Given the description of an element on the screen output the (x, y) to click on. 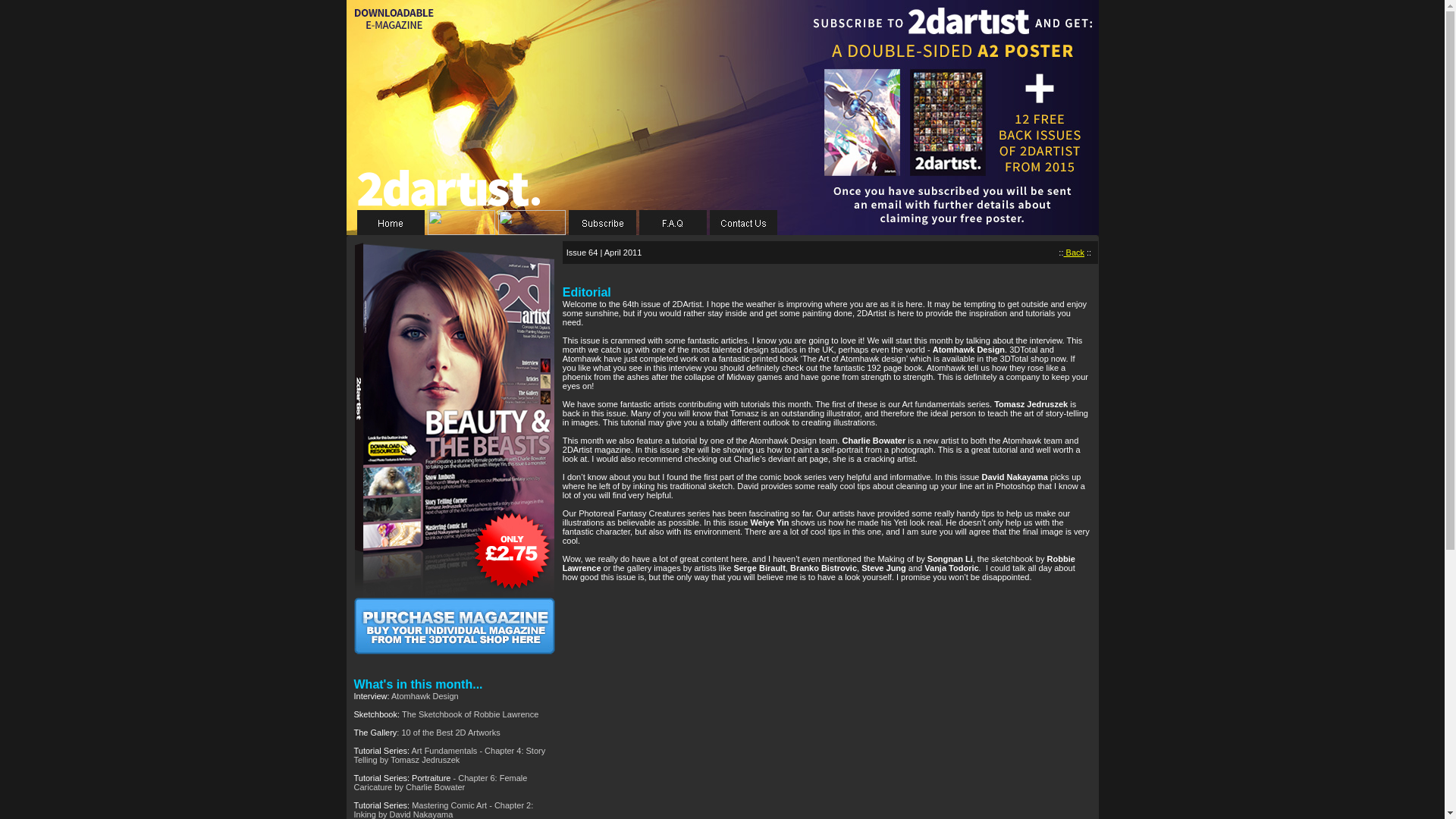
Back Element type: text (1073, 252)
